Given the description of an element on the screen output the (x, y) to click on. 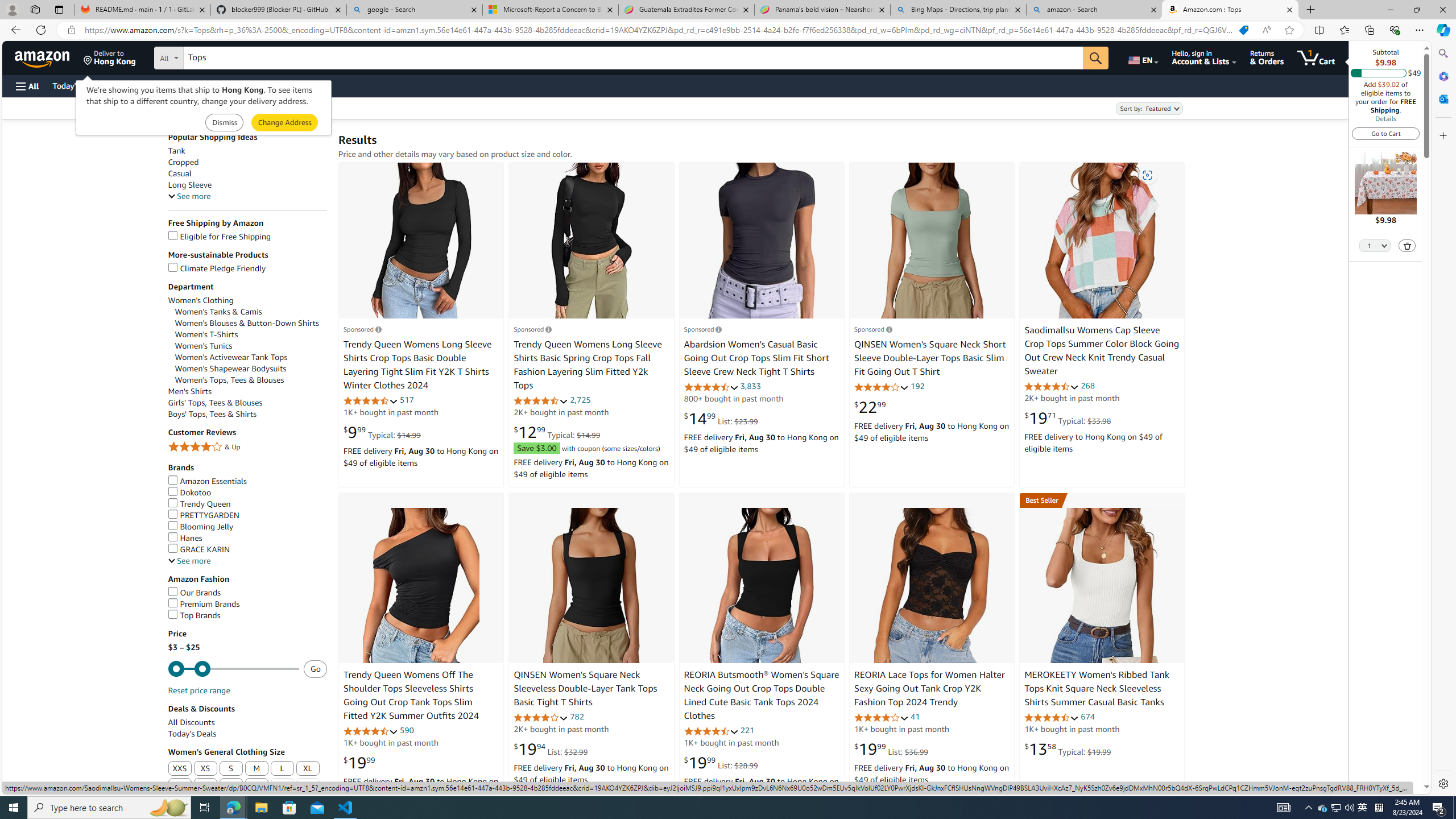
$19.99 List: $28.99 (721, 762)
Search Amazon (633, 57)
Boys' Tops, Tees & Shirts (212, 413)
amazon - Search (1094, 9)
Top Brands (247, 615)
Amazon Essentials (247, 481)
Tank (247, 150)
Amazon.com : Tops (1230, 9)
7XL (307, 785)
XXL (179, 786)
XL (307, 769)
Women's Tunics (250, 345)
5XL (255, 785)
